Given the description of an element on the screen output the (x, y) to click on. 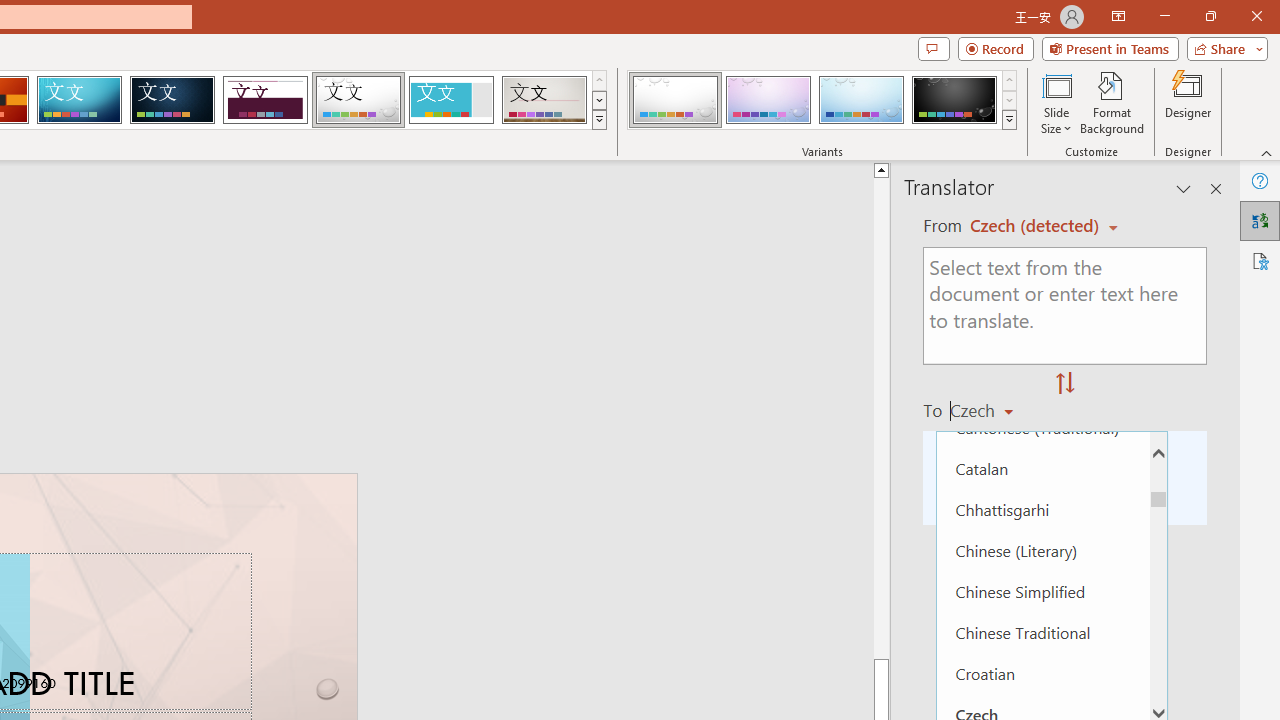
Czech (991, 409)
Droplet Variant 4 (953, 100)
Bodo (1042, 303)
Bulgarian (1042, 385)
Chinese Simplified (1042, 591)
Droplet (358, 100)
Catalan (1042, 467)
Droplet Variant 1 (674, 100)
